Given the description of an element on the screen output the (x, y) to click on. 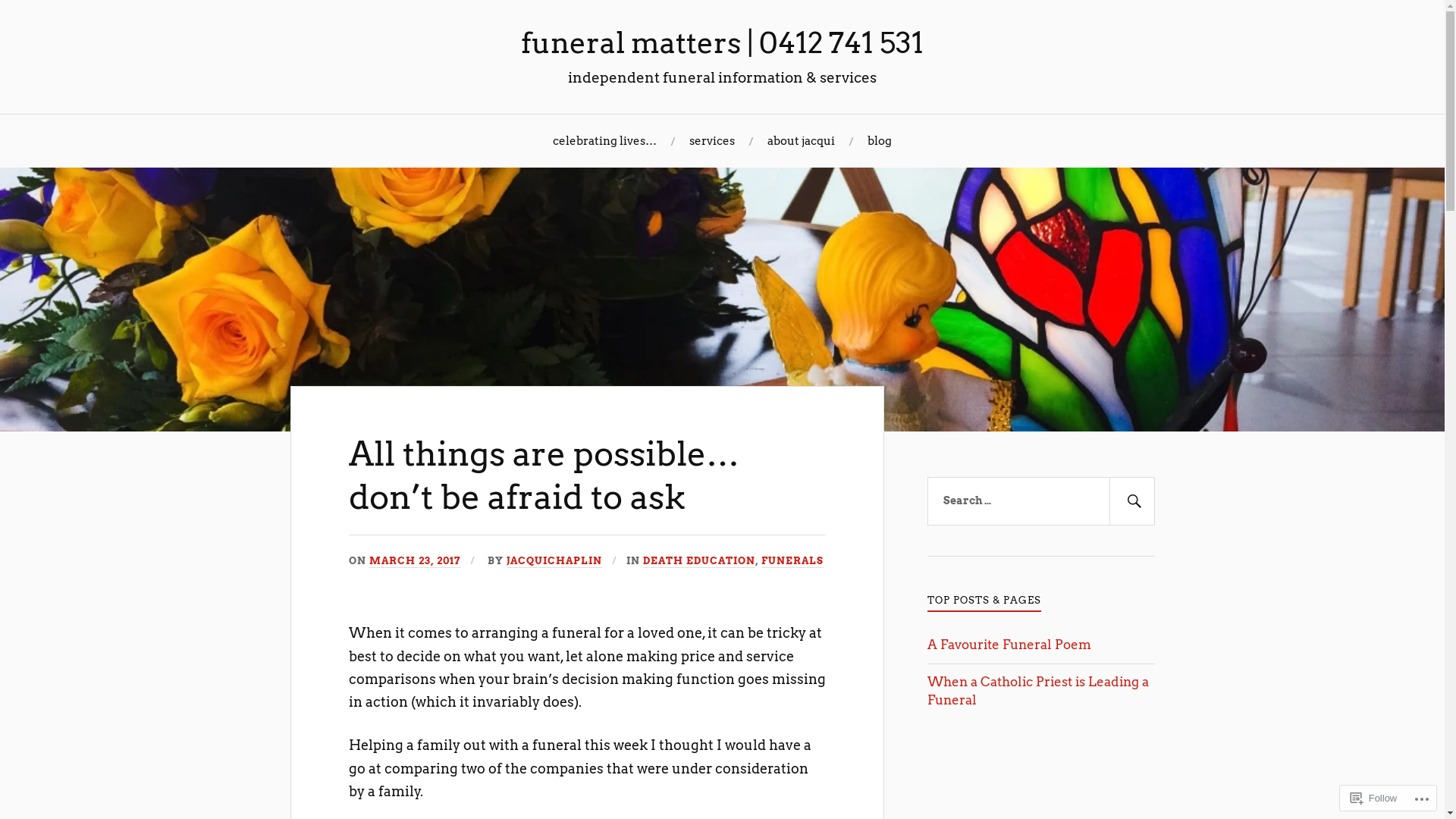
DEATH EDUCATION Element type: text (699, 561)
funeral matters | 0412 741 531 Element type: text (721, 42)
A Favourite Funeral Poem Element type: text (1009, 644)
Search for: Element type: hover (1040, 500)
MARCH 23, 2017 Element type: text (415, 561)
blog Element type: text (879, 140)
Follow Element type: text (1373, 797)
JACQUICHAPLIN Element type: text (554, 561)
FUNERALS Element type: text (792, 561)
about jacqui Element type: text (800, 140)
services Element type: text (711, 140)
When a Catholic Priest is Leading a Funeral Element type: text (1037, 690)
